Given the description of an element on the screen output the (x, y) to click on. 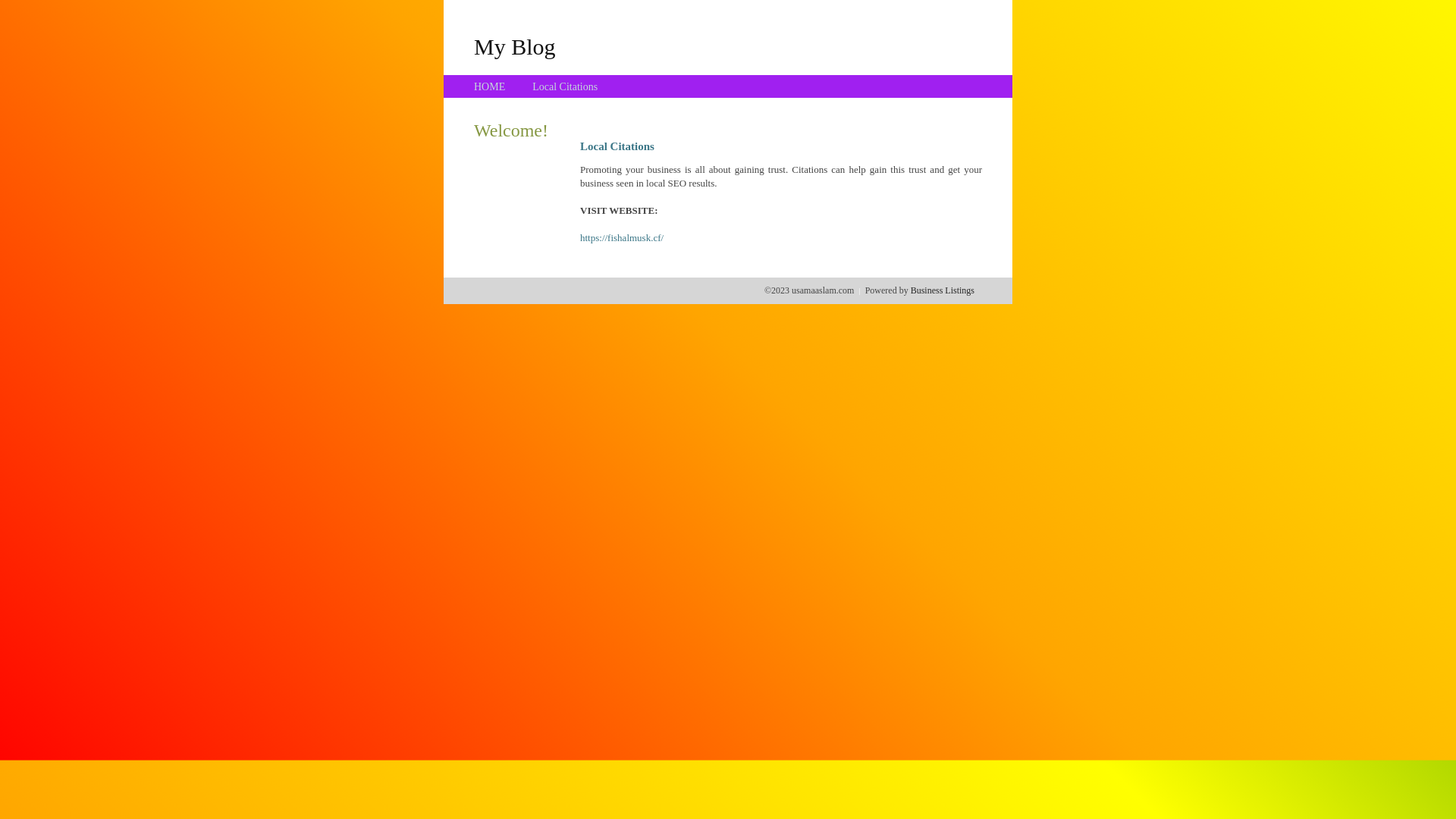
Business Listings Element type: text (942, 290)
https://fishalmusk.cf/ Element type: text (621, 237)
Local Citations Element type: text (564, 86)
My Blog Element type: text (514, 46)
HOME Element type: text (489, 86)
